Given the description of an element on the screen output the (x, y) to click on. 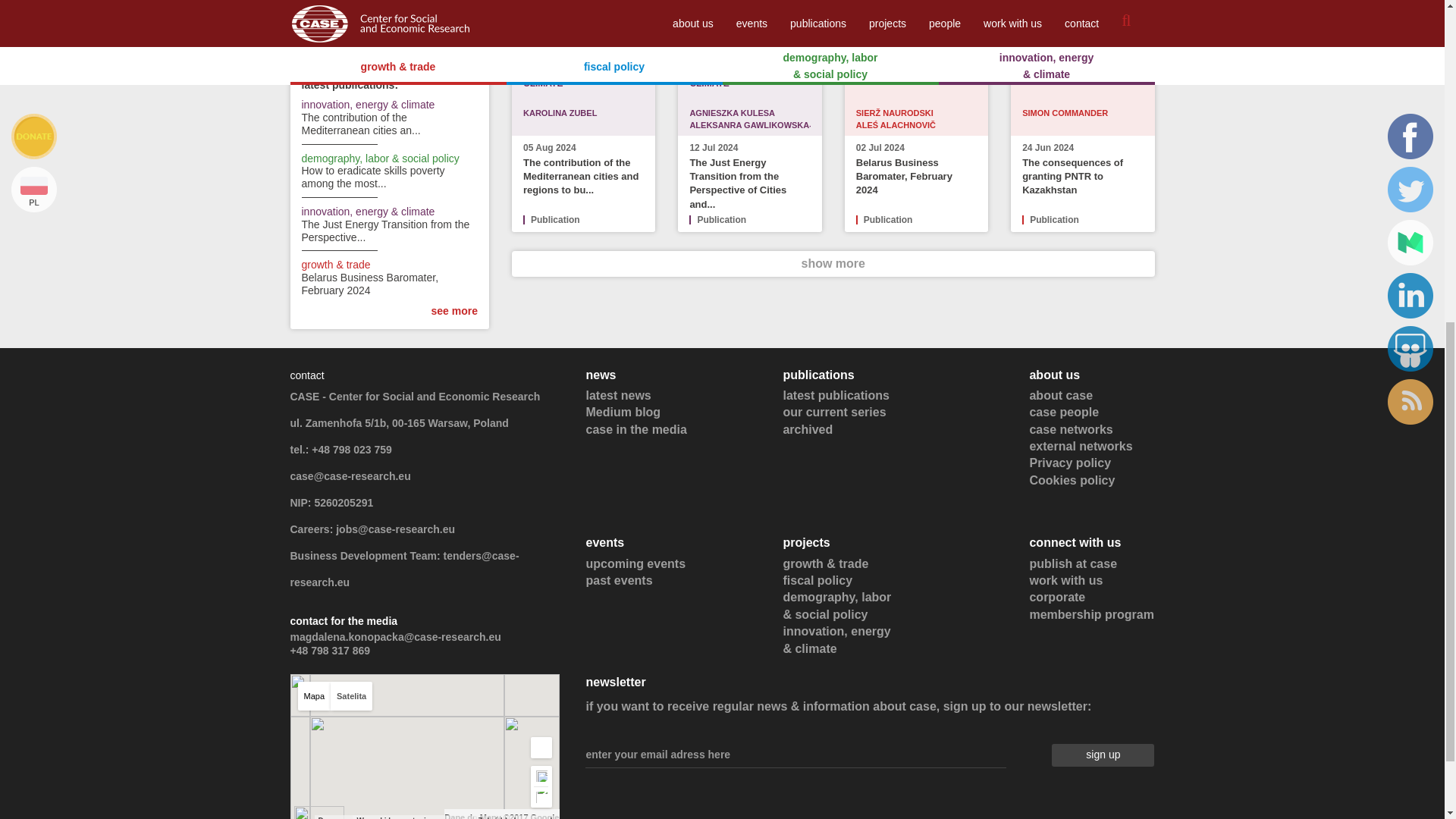
Belarus Business Baromater, February 2024 (370, 283)
see more (453, 310)
How to eradicate skills poverty among the most... (373, 176)
The Just Energy Transition from the Perspective... (385, 230)
AGNIESZKA KULESA (731, 112)
The contribution of the Mediterranean cities an... (360, 123)
KAROLINA ZUBEL (559, 112)
